Given the description of an element on the screen output the (x, y) to click on. 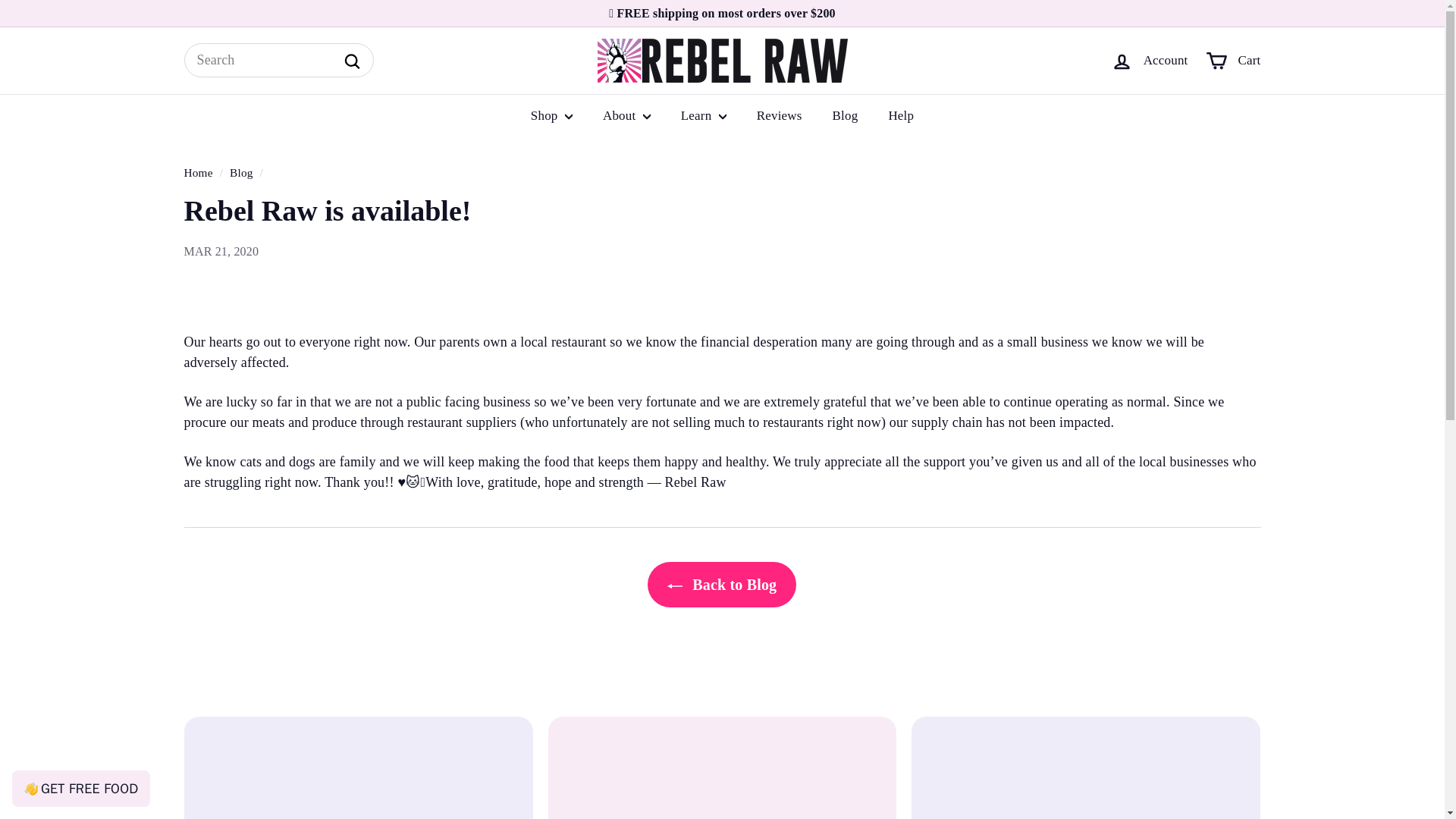
icon-left-arrow (674, 585)
Account (1149, 60)
Back to the frontpage (197, 172)
Cart (1232, 60)
